Given the description of an element on the screen output the (x, y) to click on. 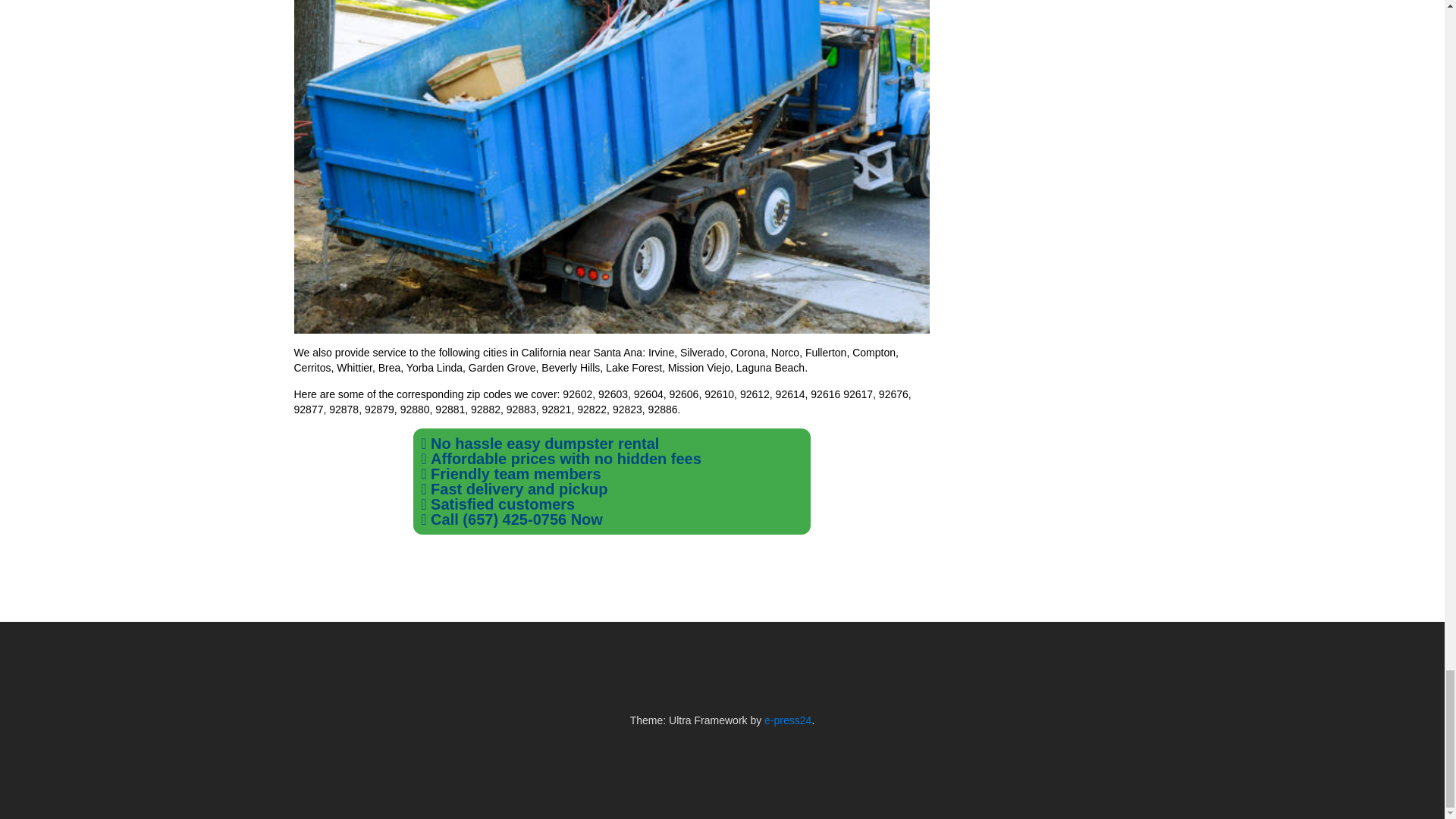
e-press24 (787, 720)
